Given the description of an element on the screen output the (x, y) to click on. 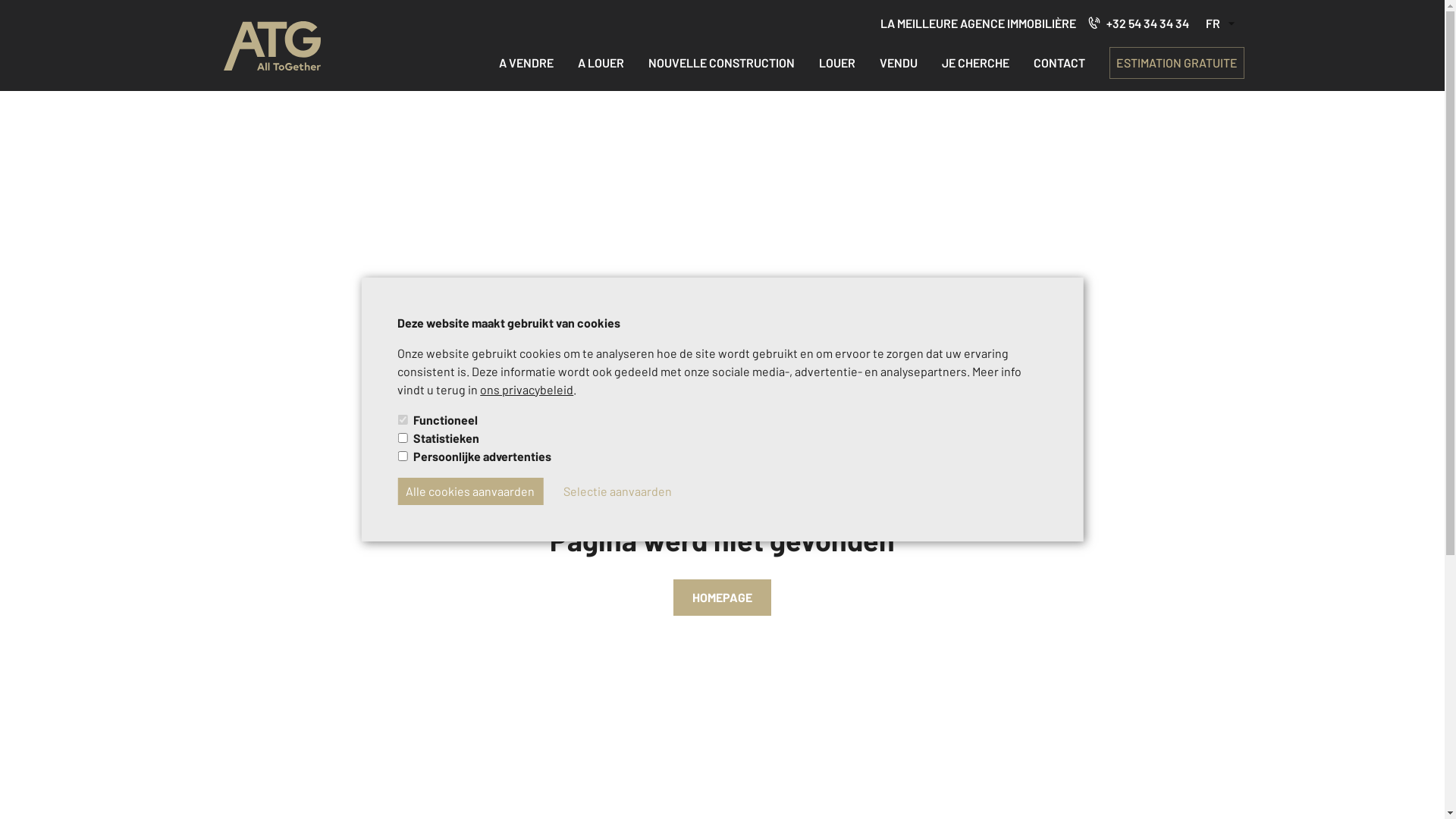
ESTIMATION GRATUITE Element type: text (1176, 62)
HOMEPAGE Element type: text (722, 597)
A VENDRE Element type: text (525, 62)
A LOUER Element type: text (600, 62)
FR Element type: text (1212, 23)
CONTACT Element type: text (1058, 62)
Selectie aanvaarden Element type: text (617, 491)
+32 54 34 34 34 Element type: text (1137, 23)
LOUER Element type: text (837, 62)
ESTIMATION GRATUITE Element type: text (1175, 62)
Alle cookies aanvaarden Element type: text (469, 491)
NOUVELLE CONSTRUCTION Element type: text (720, 62)
JE CHERCHE Element type: text (975, 62)
ons privacybeleid Element type: text (526, 389)
VENDU Element type: text (898, 62)
